Given the description of an element on the screen output the (x, y) to click on. 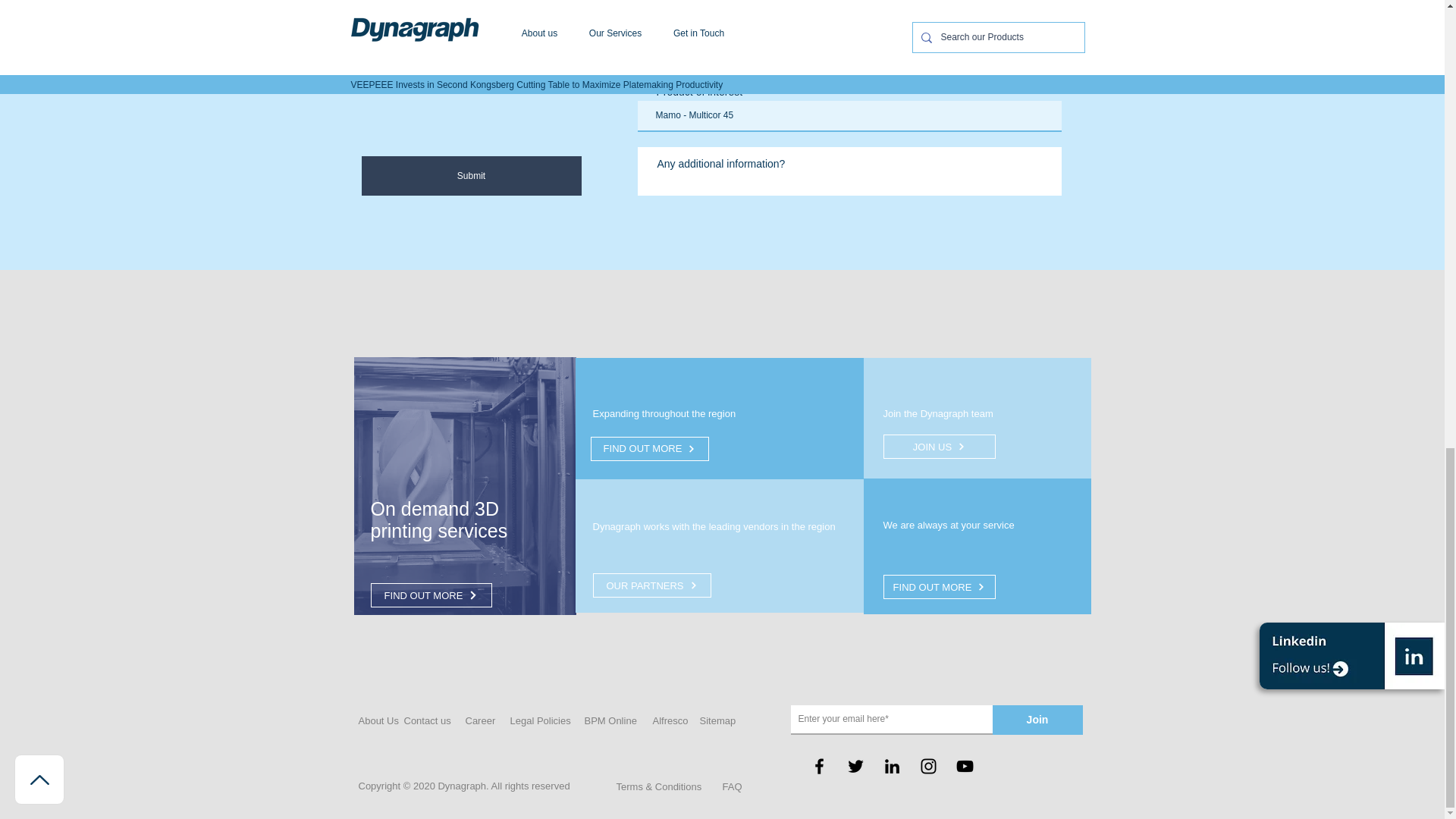
About Us (382, 721)
JOIN US (938, 446)
FIND OUT MORE (648, 448)
Alfresco (676, 721)
FIND OUT MORE (938, 586)
Mamo - Multicor 45 (849, 115)
Submit (470, 175)
FIND OUT MORE (430, 595)
BPM Online (611, 721)
Contact us (427, 721)
